Given the description of an element on the screen output the (x, y) to click on. 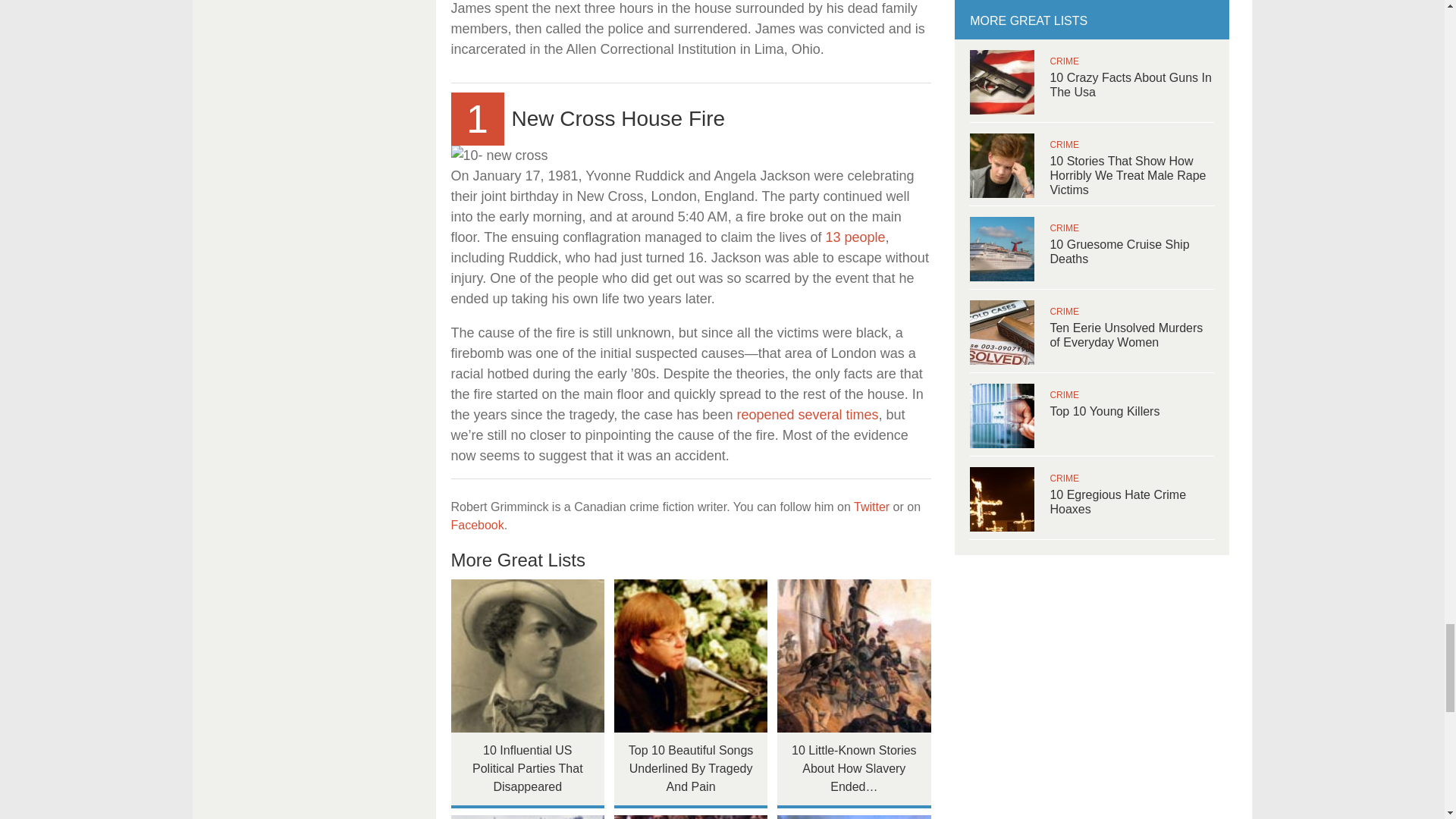
Top 10 Beautiful Songs Underlined By Tragedy And Pain (691, 656)
10 Influential US Political Parties That Disappeared (526, 656)
